Given the description of an element on the screen output the (x, y) to click on. 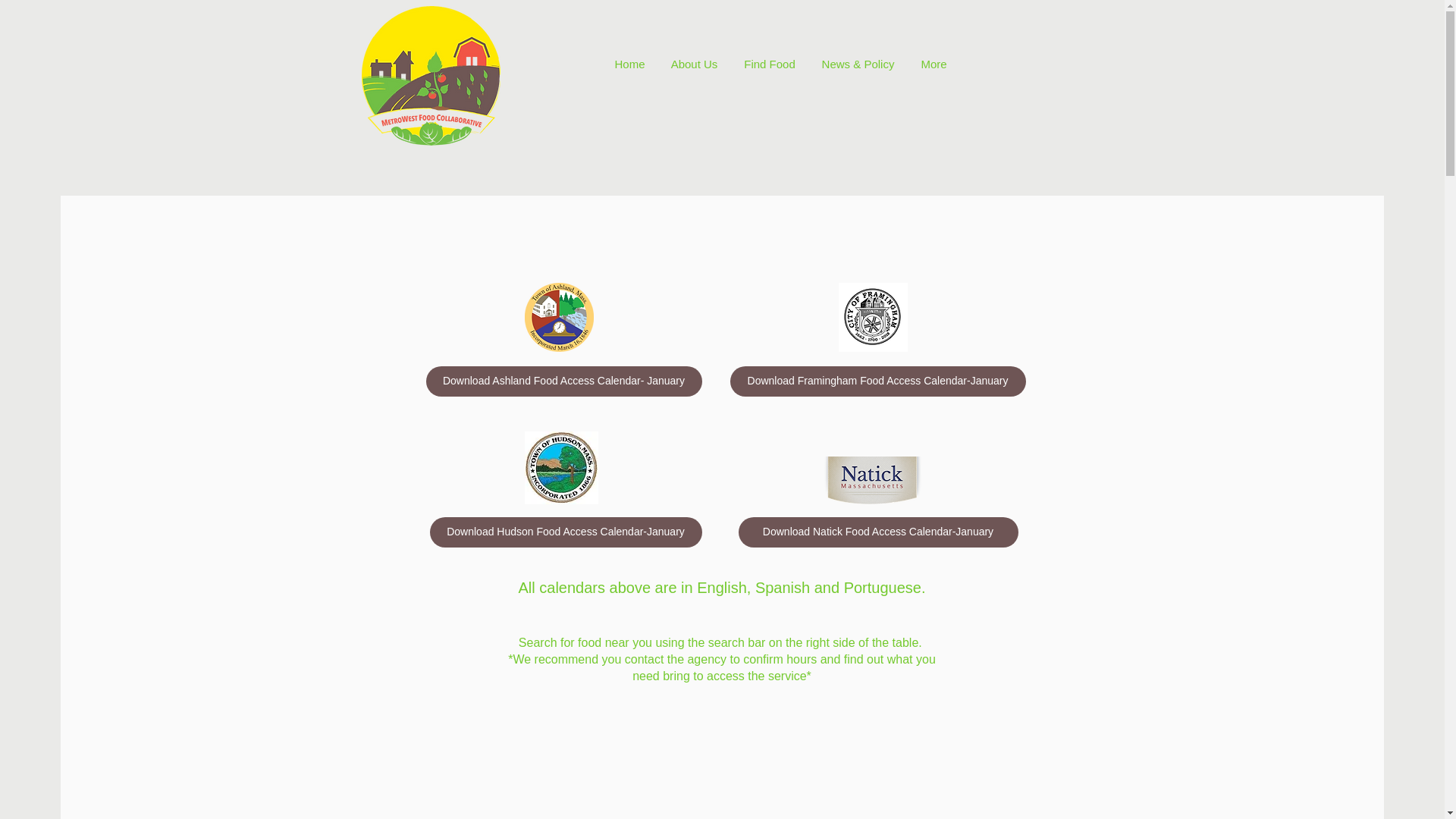
Download Natick Food Access Calendar-January (877, 531)
Download Hudson Food Access Calendar-January (565, 531)
Download Framingham Food Access Calendar-January (877, 381)
Home (630, 64)
Download Ashland Food Access Calendar- January (563, 381)
